Given the description of an element on the screen output the (x, y) to click on. 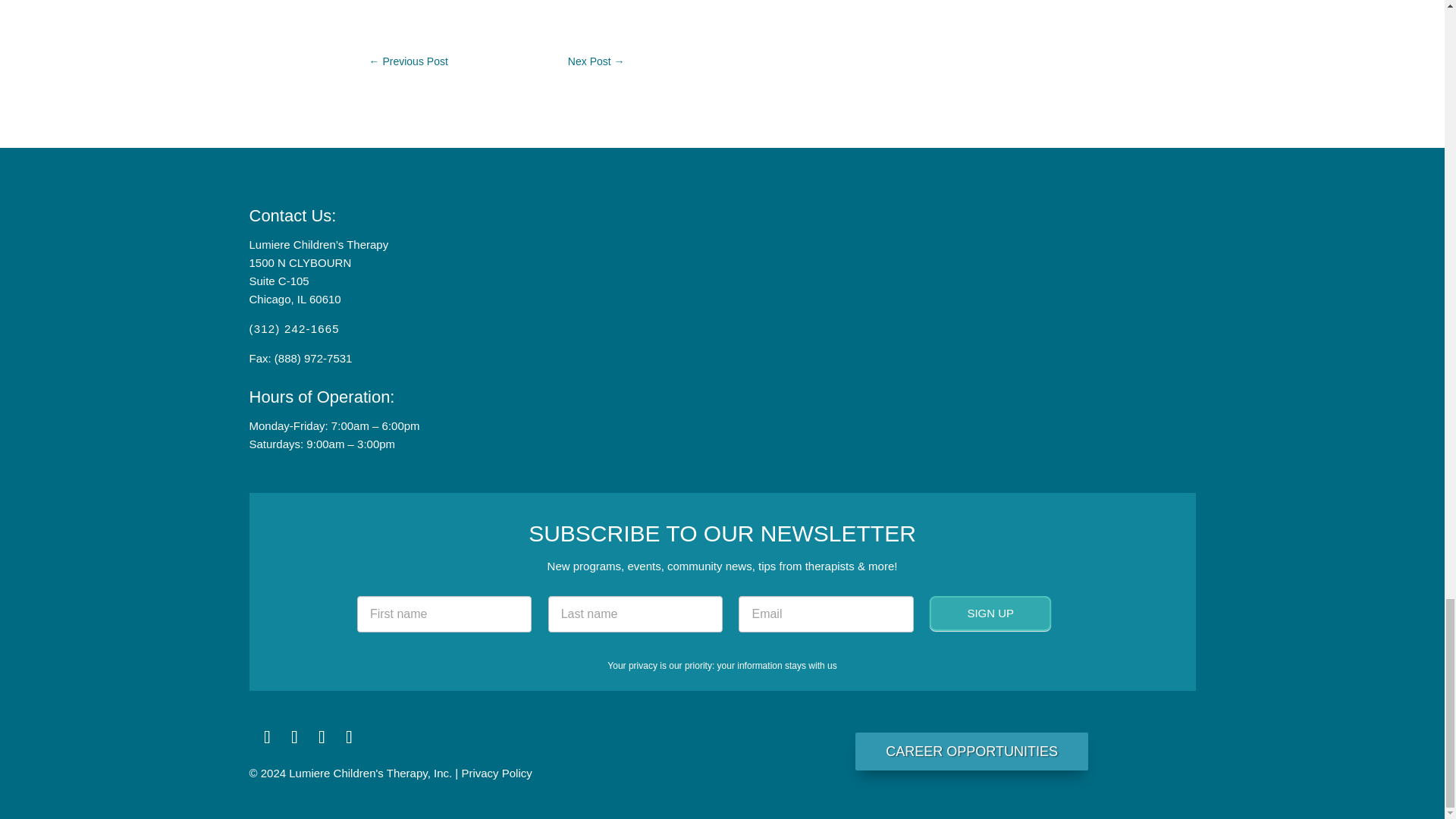
Follow on Facebook (266, 737)
Follow on Instagram (294, 737)
Follow on Youtube (348, 737)
Follow on LinkedIn (320, 737)
